Given the description of an element on the screen output the (x, y) to click on. 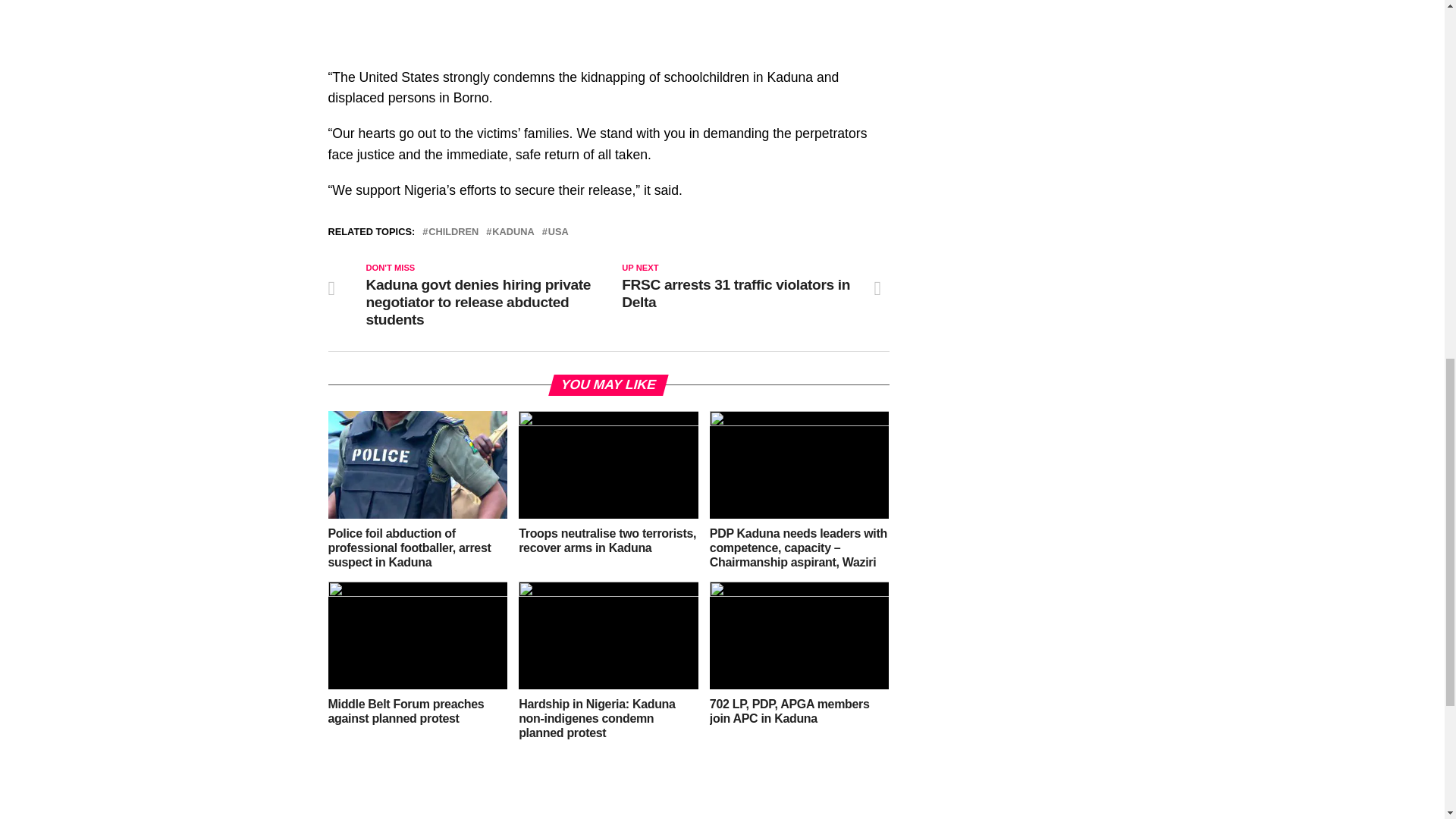
CHILDREN (453, 232)
KADUNA (513, 232)
USA (558, 232)
